Given the description of an element on the screen output the (x, y) to click on. 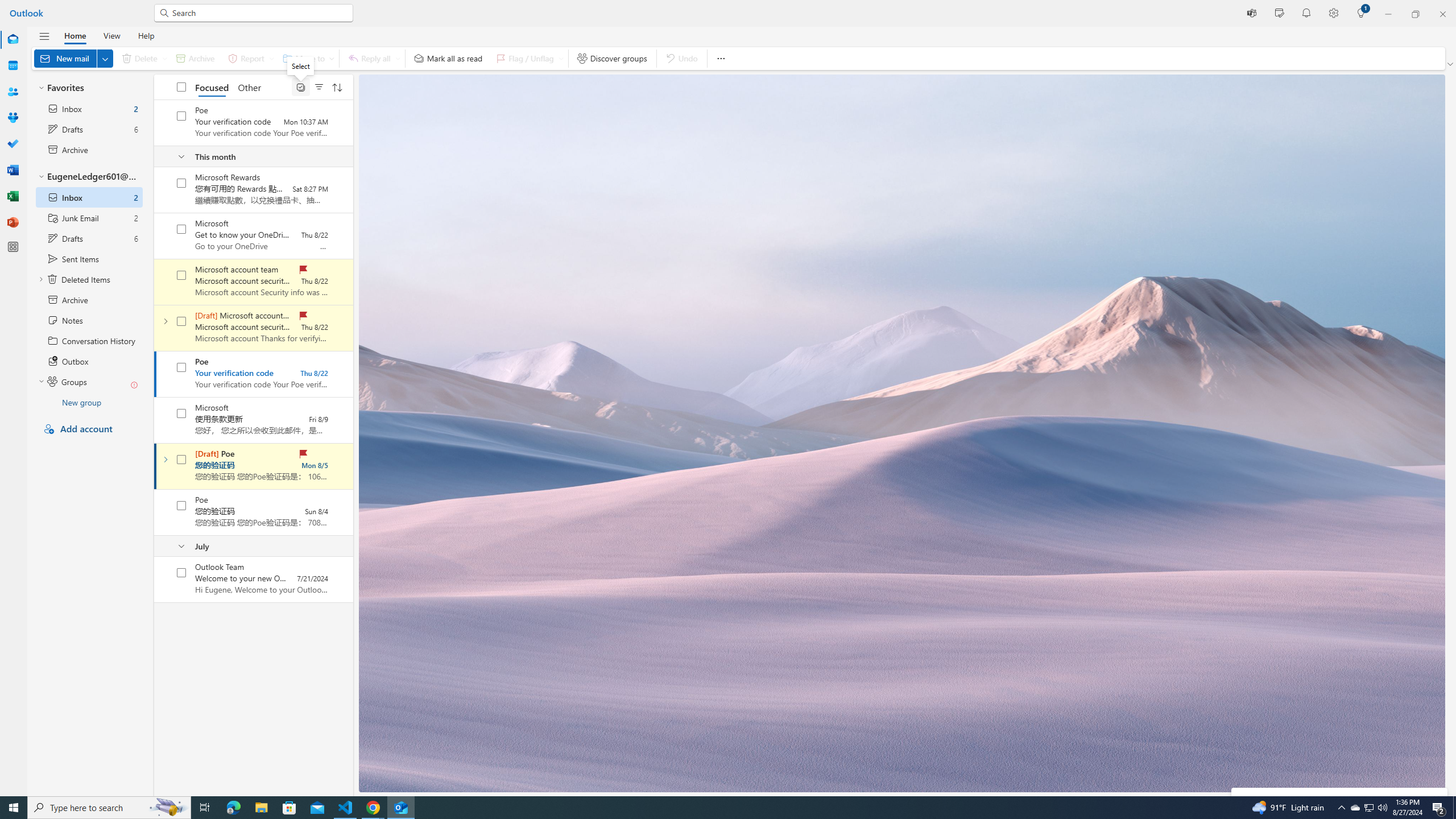
Other (248, 86)
New mail (73, 58)
Groups (12, 117)
Expand to see more report options (271, 58)
Expand conversation (164, 459)
Mark all as read (448, 58)
Expand to see delete options (164, 58)
Ribbon display options (1450, 63)
Mail (12, 39)
AutomationID: checkbox-114 (180, 182)
Groups (12, 118)
Expand to see more respond options (398, 58)
